Given the description of an element on the screen output the (x, y) to click on. 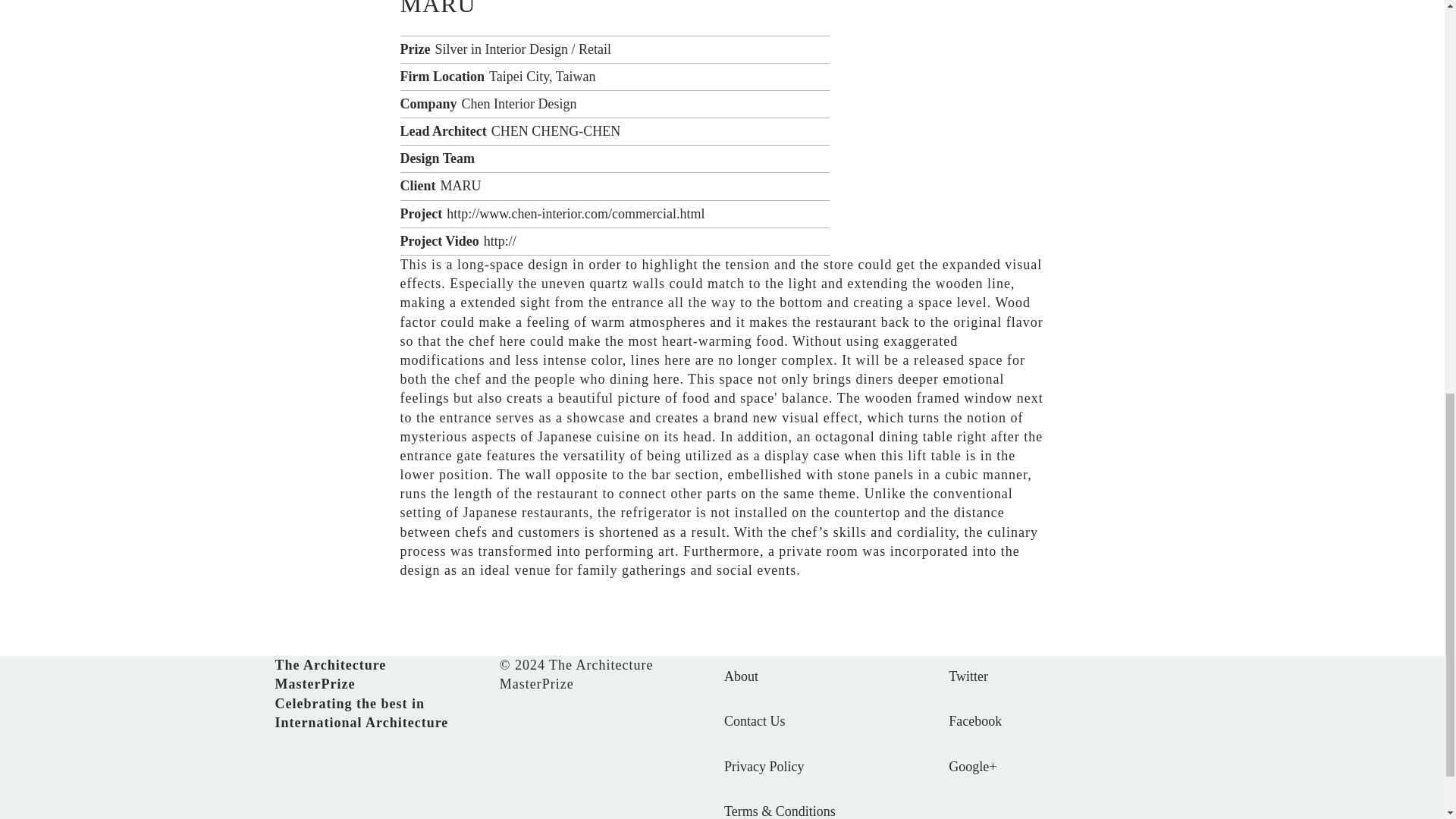
Facebook (975, 720)
Contact Us (754, 720)
About (740, 675)
Twitter (968, 675)
Privacy Policy (764, 766)
